Given the description of an element on the screen output the (x, y) to click on. 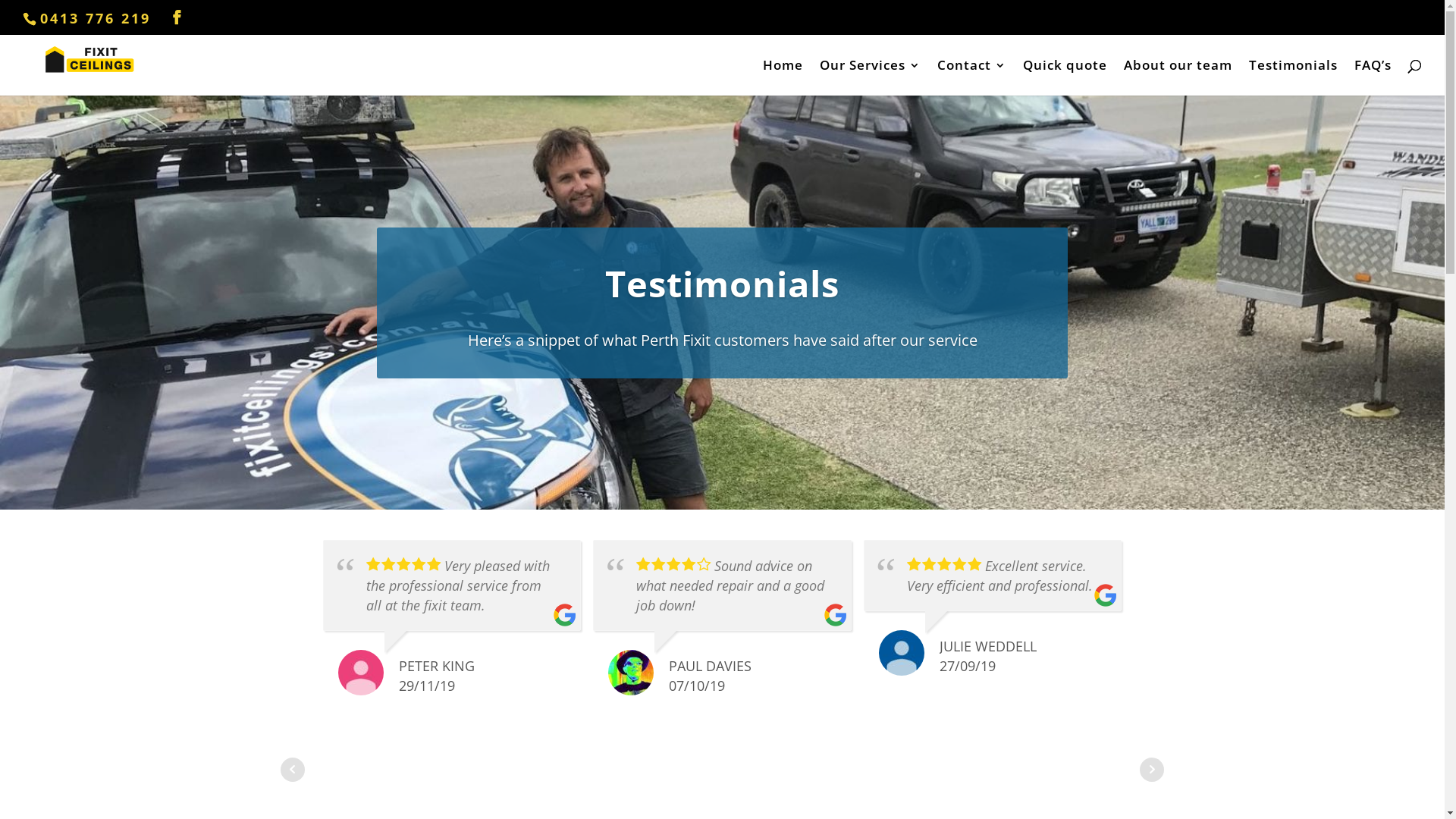
About our team Element type: text (1177, 77)
Next Element type: text (1151, 769)
Testimonials Element type: text (1292, 77)
Home Element type: text (782, 77)
Prev Element type: text (292, 769)
Quick quote Element type: text (1064, 77)
Contact Element type: text (971, 77)
Our Services Element type: text (869, 77)
0413 776 219 Element type: text (95, 18)
